Given the description of an element on the screen output the (x, y) to click on. 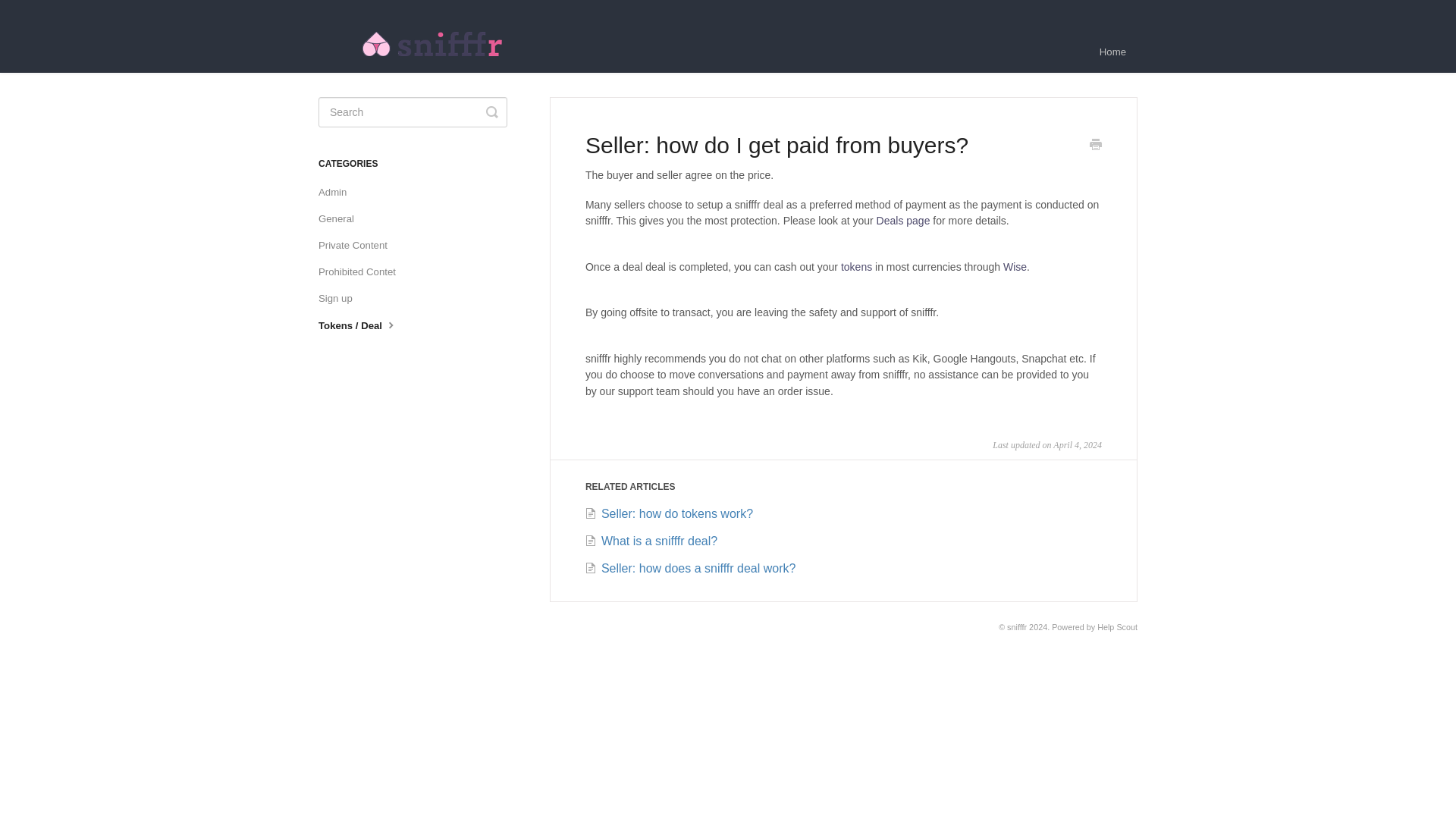
Seller: how does a snifffr deal work? (689, 567)
Private Content (358, 245)
tokens (856, 266)
Sign up (341, 298)
What is a snifffr deal? (651, 540)
Deals page (903, 220)
search-query (412, 112)
Help Scout (1117, 626)
General (341, 218)
Wise (1014, 266)
